Given the description of an element on the screen output the (x, y) to click on. 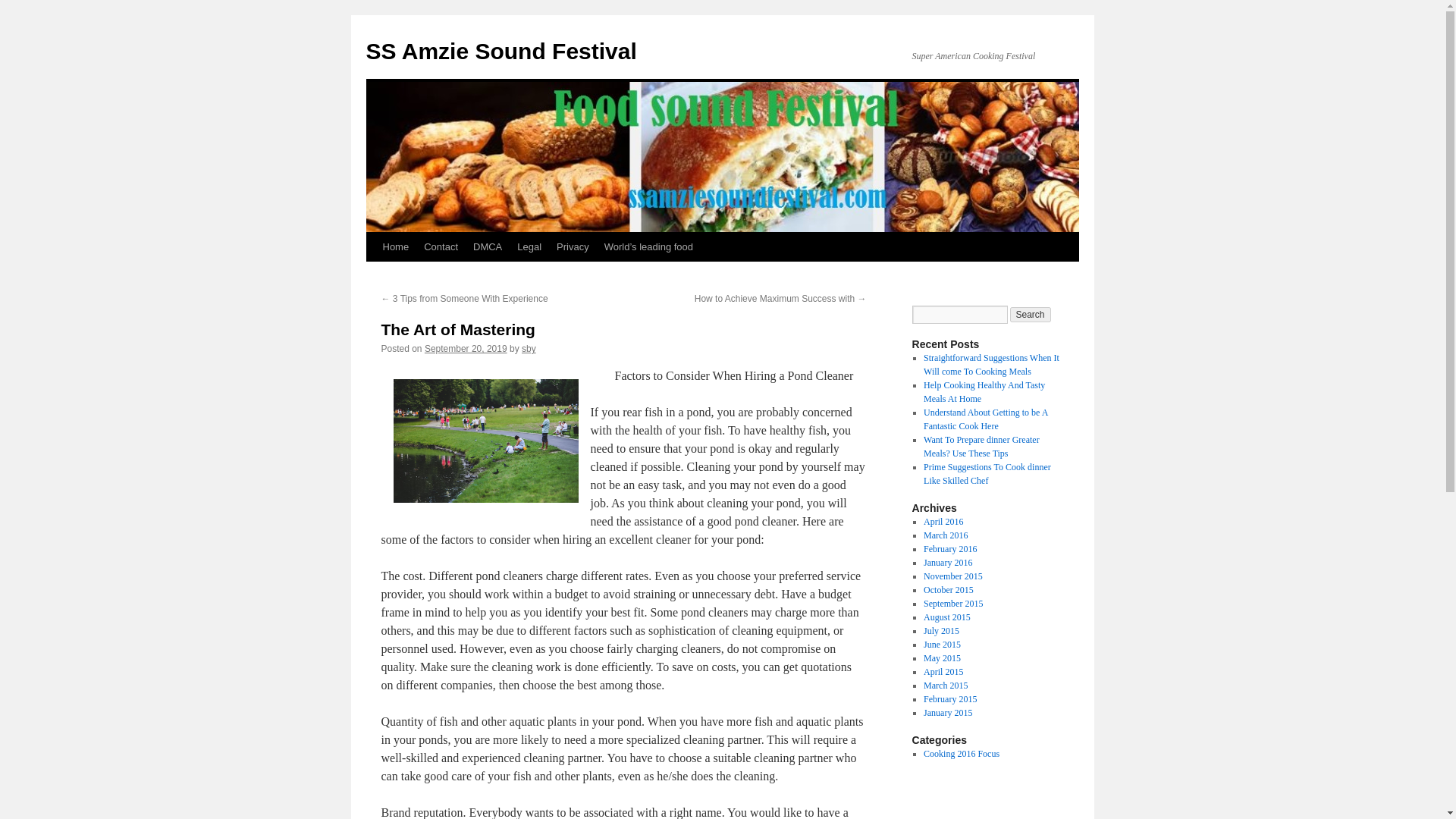
April 2016 (942, 521)
January 2016 (947, 562)
June 2015 (941, 644)
Want To Prepare dinner Greater Meals? Use These Tips (981, 446)
Prime Suggestions To Cook dinner Like Skilled Chef (987, 473)
View all posts by sby (528, 348)
September 2015 (952, 603)
SS Amzie Sound Festival (500, 50)
sby (528, 348)
Understand About Getting to be A Fantastic Cook Here (985, 419)
Privacy (572, 246)
October 2015 (948, 589)
September 20, 2019 (465, 348)
Search (1030, 314)
